Given the description of an element on the screen output the (x, y) to click on. 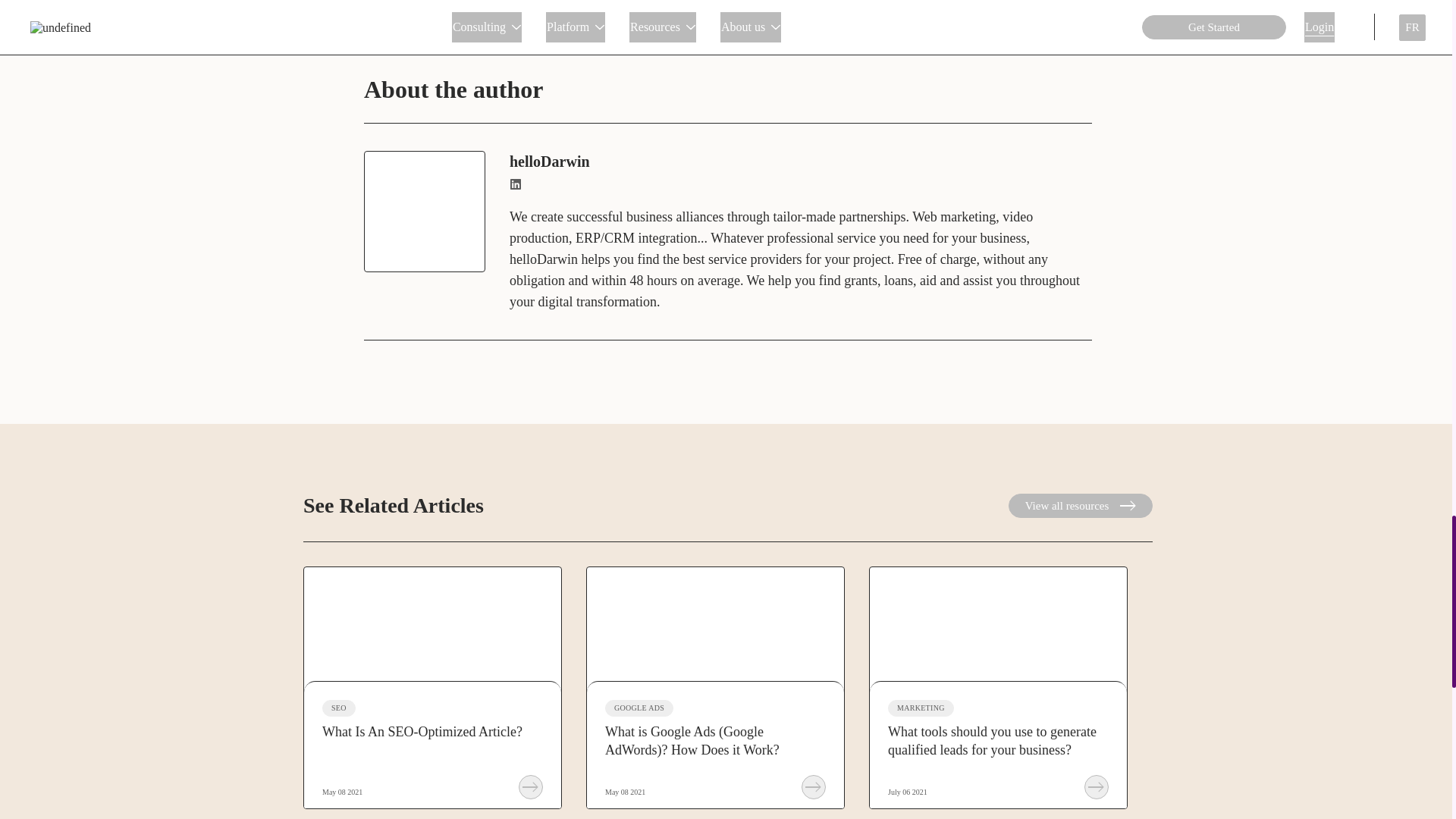
View all resources (1081, 505)
